Given the description of an element on the screen output the (x, y) to click on. 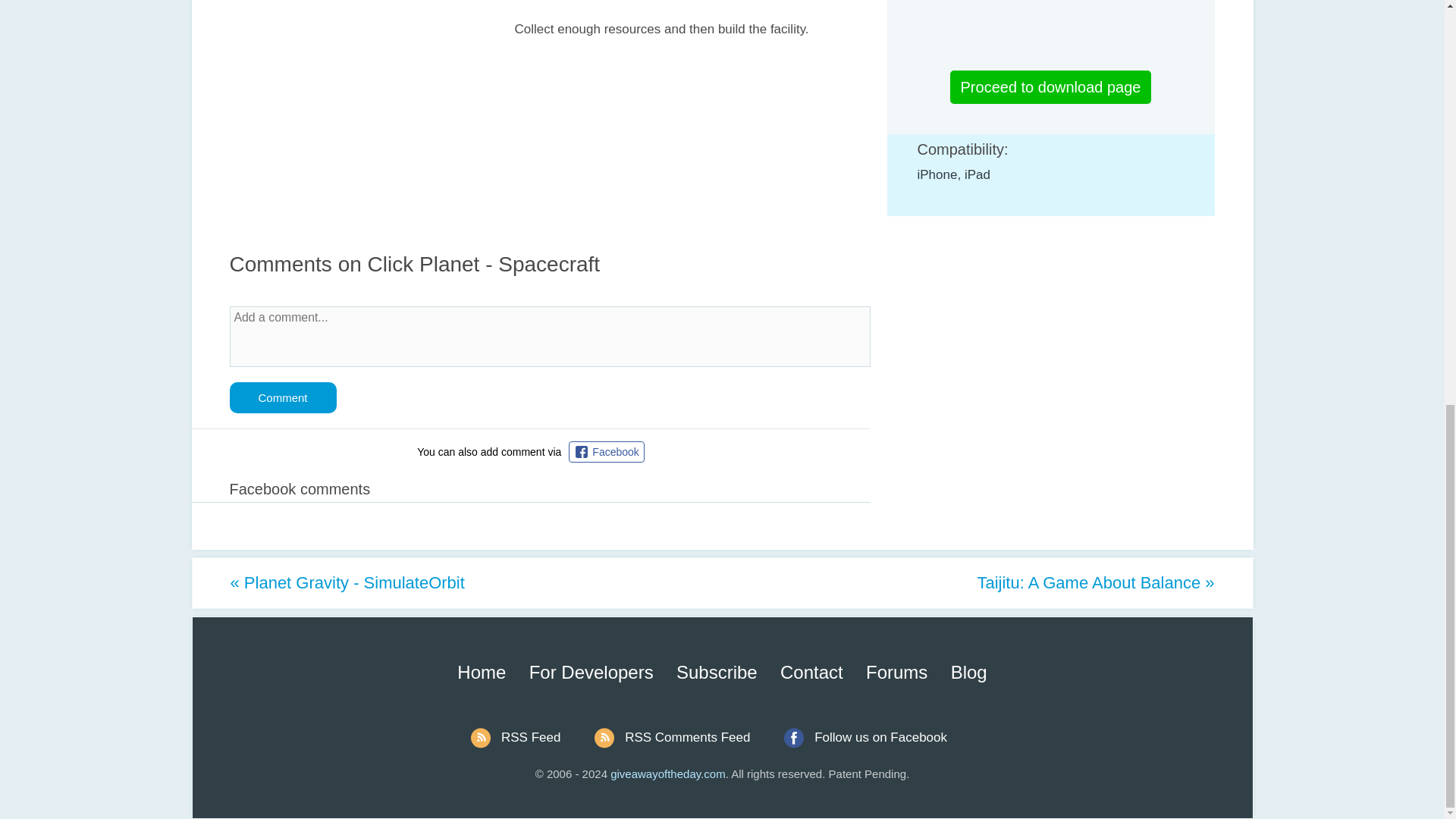
Proceed to download page (1050, 87)
Advertisement (355, 107)
Comment (282, 397)
Home (481, 671)
Comment (282, 397)
